Given the description of an element on the screen output the (x, y) to click on. 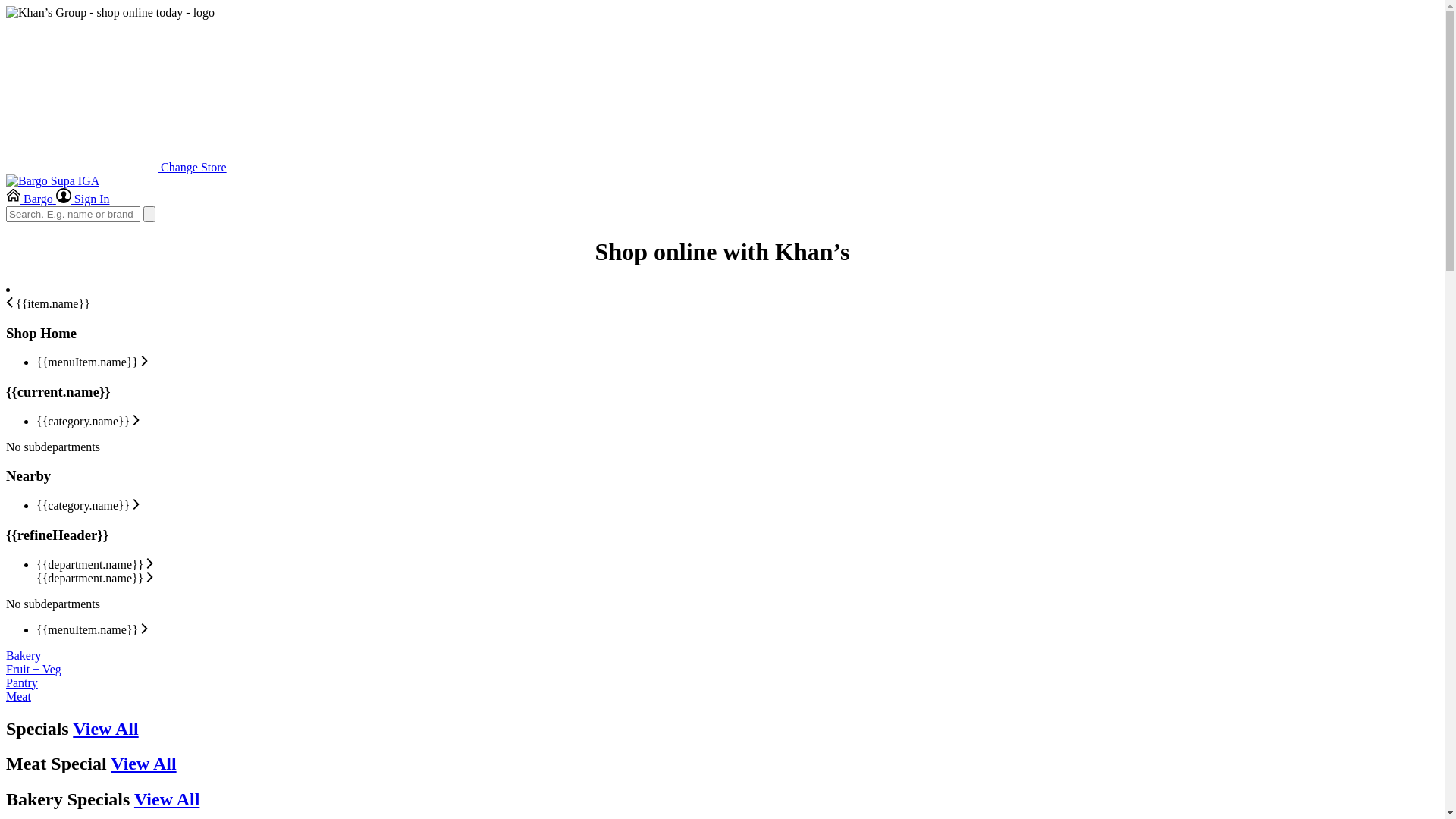
Fruit + Veg Element type: text (33, 668)
Sign In Element type: text (82, 198)
Store Location Change Store Element type: text (116, 166)
Bargo Element type: text (31, 198)
Search Element type: hover (149, 214)
View All Element type: text (166, 799)
View All Element type: text (142, 763)
Meat Element type: text (18, 696)
Bakery Element type: text (23, 655)
Pantry Element type: text (21, 682)
View All Element type: text (105, 728)
